Given the description of an element on the screen output the (x, y) to click on. 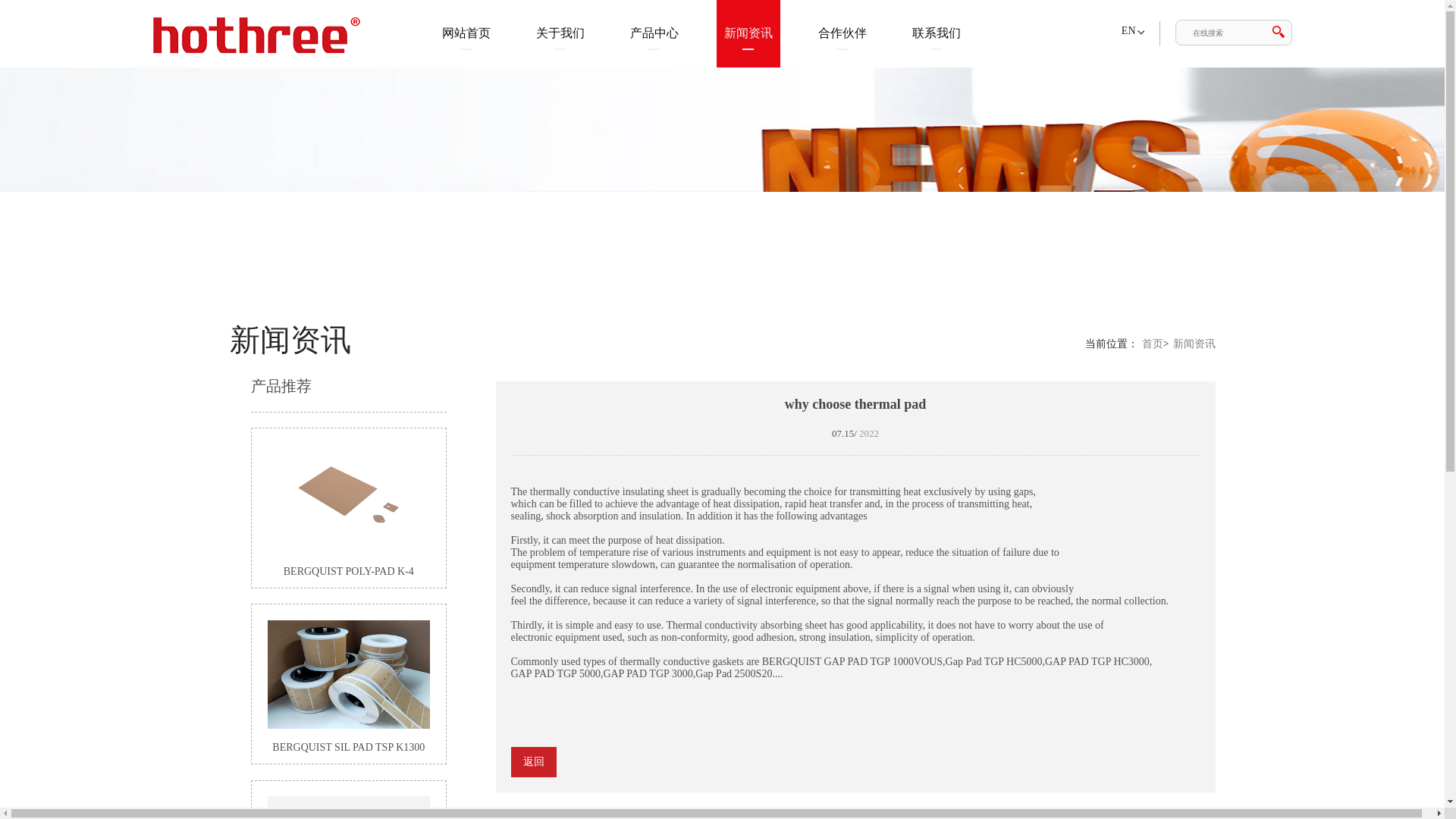
BERGQUIST SIL PAD TSP K1300 (348, 686)
BERGQUIST POLY-PAD K-4 (348, 511)
BERGQUIST SPK10AC (348, 807)
EN (1128, 30)
